Given the description of an element on the screen output the (x, y) to click on. 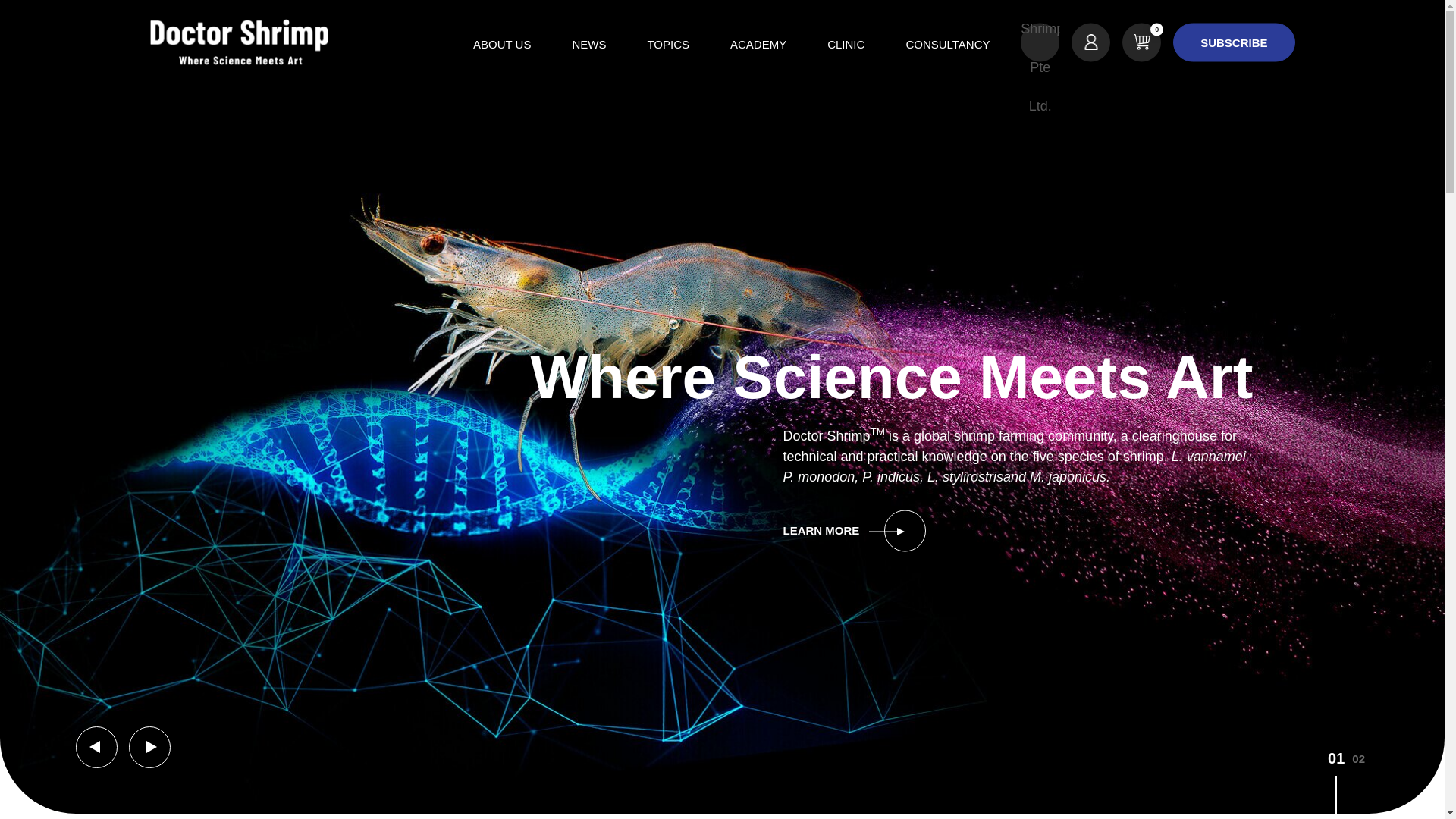
CONSULTANCY (947, 44)
SUBSCRIBE (1233, 41)
LEARN MORE (943, 531)
CLINIC (845, 44)
ABOUT US (501, 44)
01 (1335, 783)
NEWS (588, 44)
0 (1141, 41)
02 (1358, 783)
TOPICS (668, 44)
ACADEMY (758, 44)
